Given the description of an element on the screen output the (x, y) to click on. 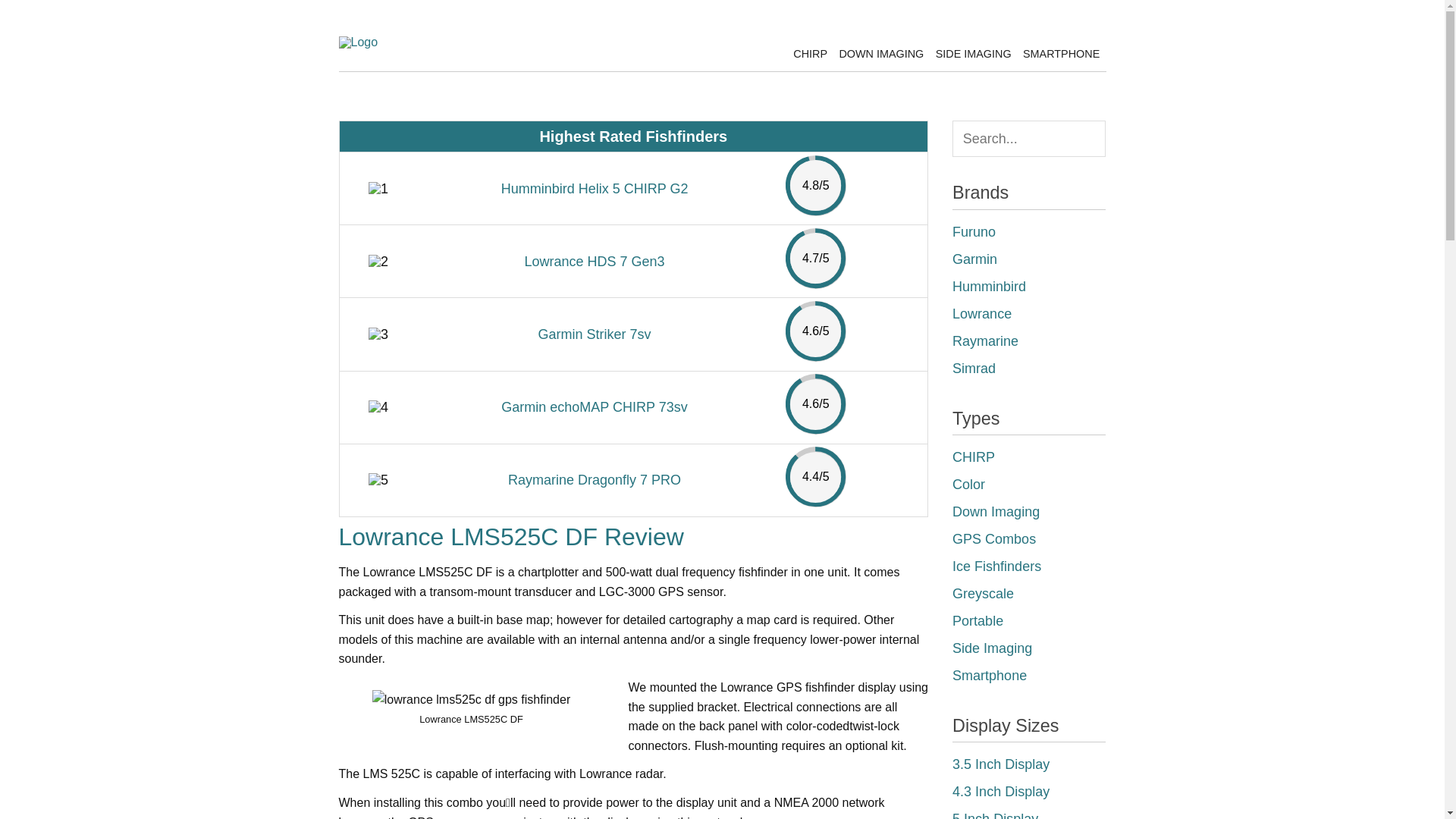
SMARTPHONE (1061, 53)
CHIRP (973, 457)
Portable (977, 620)
Greyscale (982, 593)
Humminbird Helix 5 CHIRP G2 (594, 188)
5 Inch Display (995, 815)
SIDE IMAGING (973, 53)
Garmin (974, 258)
Raymarine Dragonfly 7 PRO (594, 479)
Simrad (973, 368)
